Given the description of an element on the screen output the (x, y) to click on. 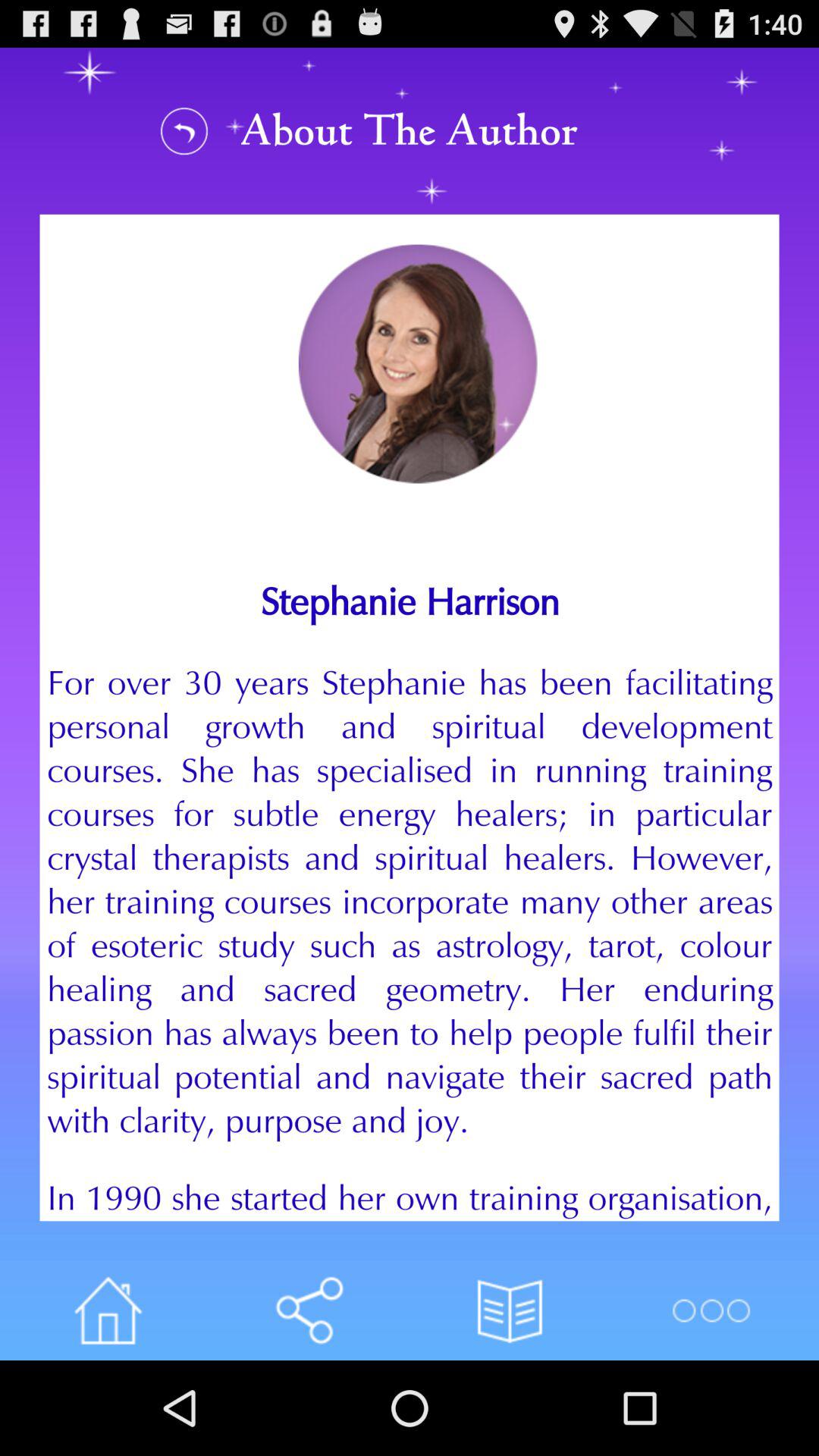
go home page (107, 1310)
